Given the description of an element on the screen output the (x, y) to click on. 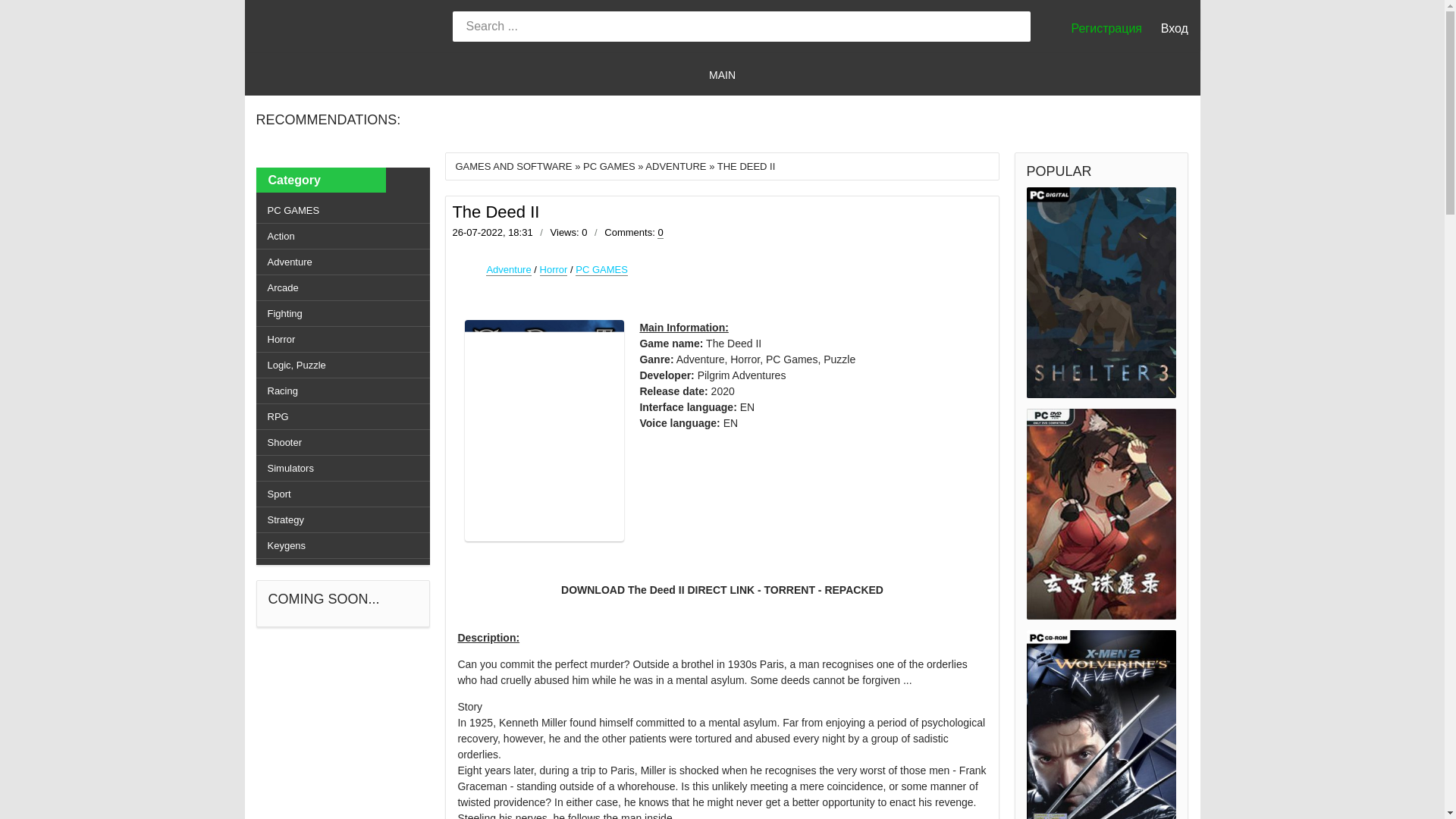
PC GAMES (608, 165)
Find (1012, 28)
ADVENTURE (675, 165)
GAMES AND SOFTWARE (513, 165)
MAIN (722, 74)
Horror (553, 269)
PC GAMES (601, 269)
Download torrents! (346, 28)
Adventure (508, 269)
